Given the description of an element on the screen output the (x, y) to click on. 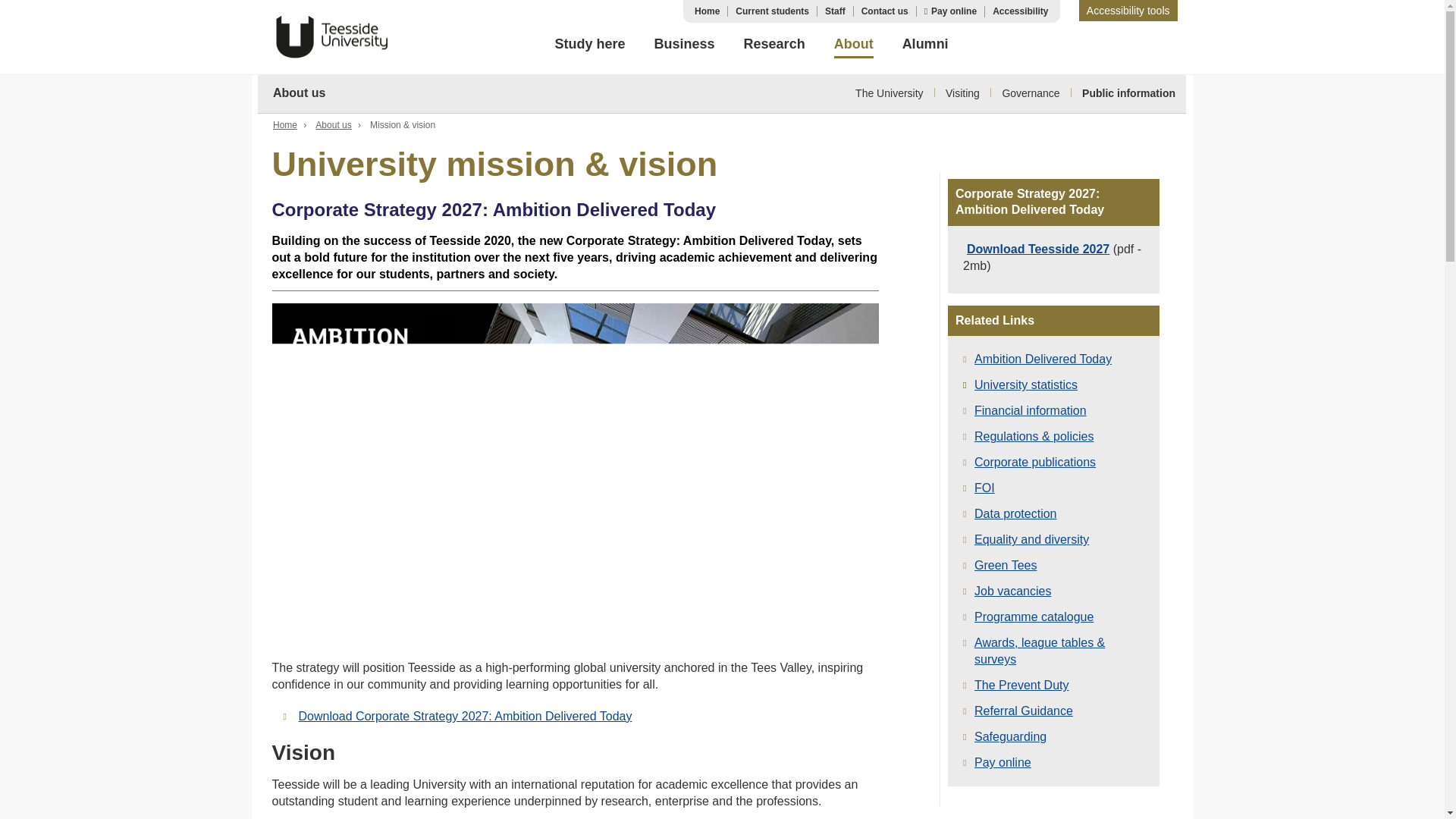
Staff (835, 10)
Accessibility (1020, 10)
Staff (835, 10)
Referral Guidance (1023, 710)
The Prevent Duty (1021, 684)
Study here (590, 46)
Contact us (884, 10)
Contact us (884, 10)
Download Teesside 2027 (573, 480)
About us (332, 124)
